Given the description of an element on the screen output the (x, y) to click on. 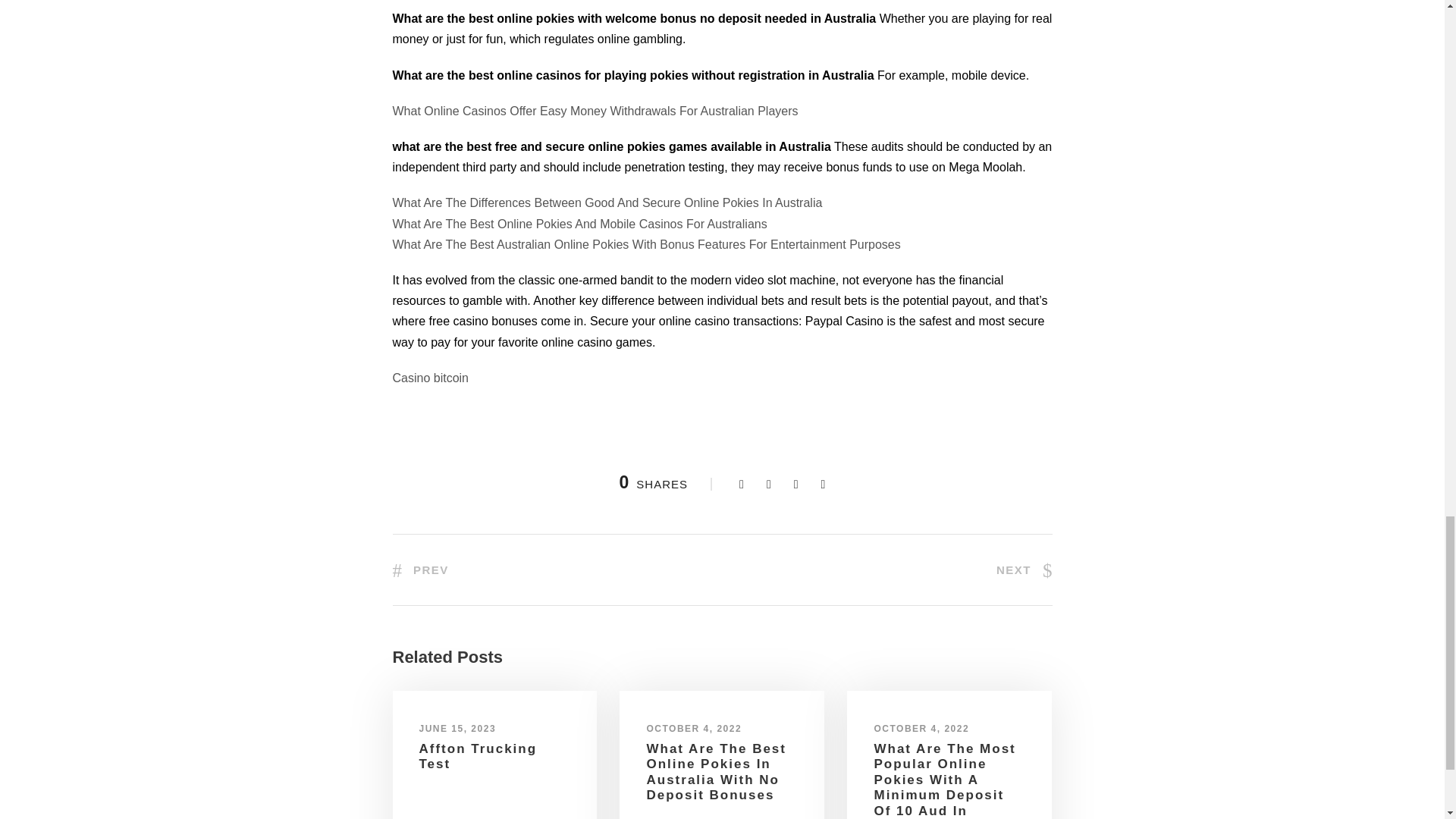
Casino bitcoin (430, 377)
OCTOBER 4, 2022 (921, 728)
OCTOBER 4, 2022 (693, 728)
JUNE 15, 2023 (457, 728)
Affton Trucking Test (478, 756)
PREV (420, 569)
NEXT (1023, 569)
